Given the description of an element on the screen output the (x, y) to click on. 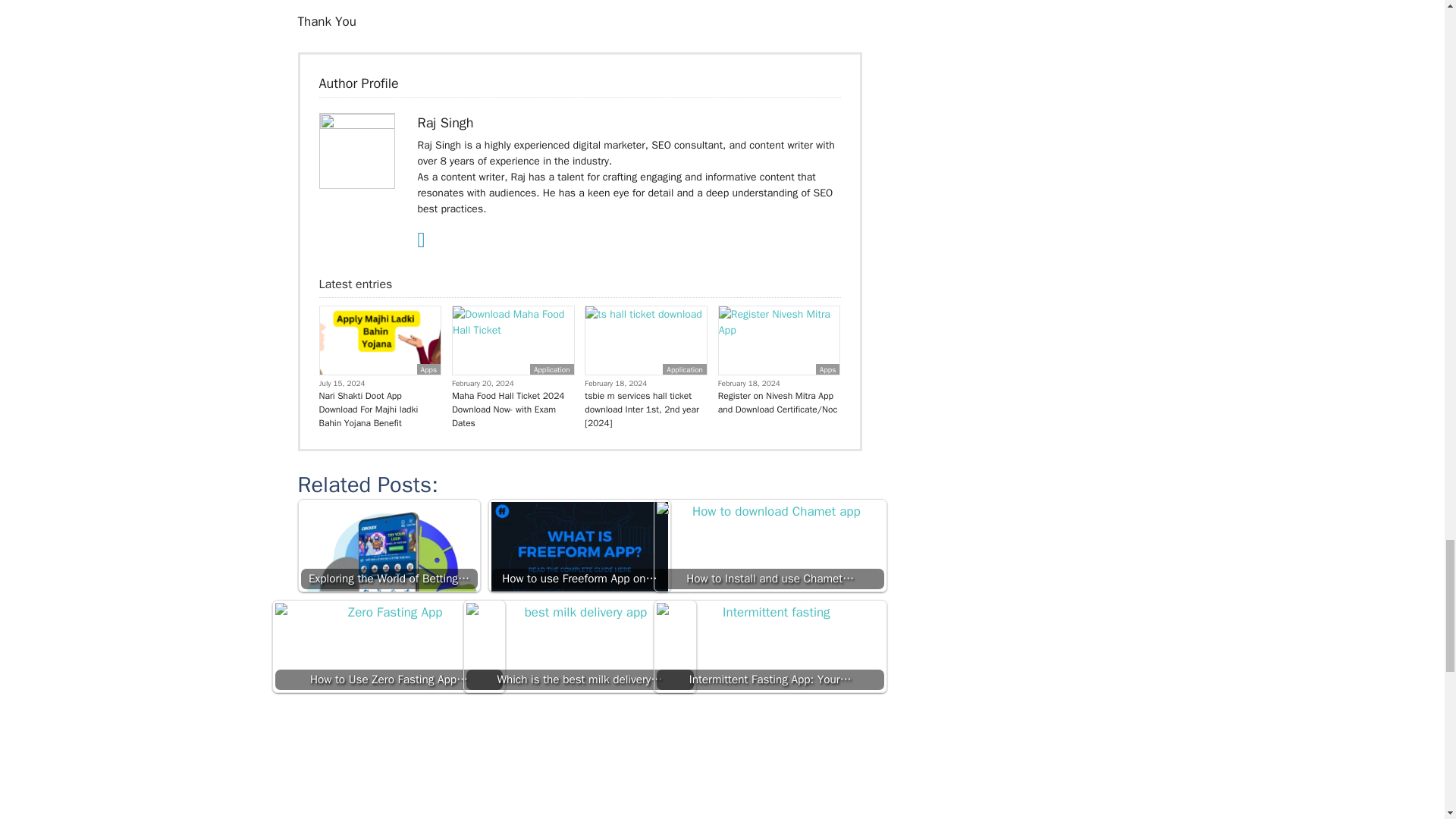
Exploring the World of Betting and Gaming with Crickex App (388, 590)
Application (684, 368)
Apps (827, 368)
Application (551, 368)
Maha Food Hall Ticket 2024 Download Now- with Exam Dates (513, 409)
Apps (428, 368)
